Given the description of an element on the screen output the (x, y) to click on. 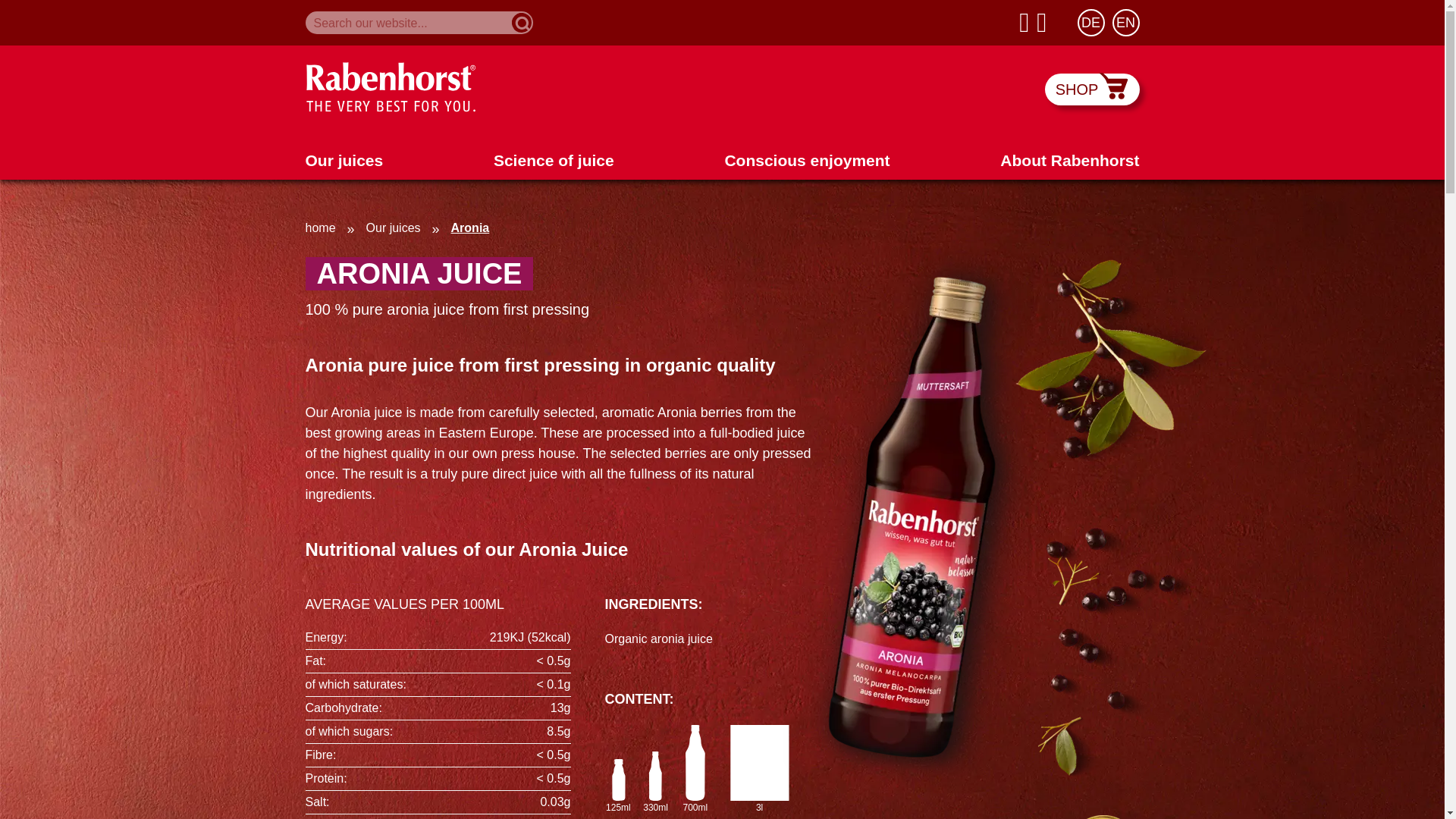
zur deutschen Version (1090, 22)
Besuchen Sie unseren Rabenhorst-Shop. (1092, 89)
Science of juice (553, 159)
Our juices (343, 159)
view english page (1125, 22)
SHOP (1092, 89)
Science of juice (553, 159)
EN (1125, 22)
DE (1090, 22)
